Given the description of an element on the screen output the (x, y) to click on. 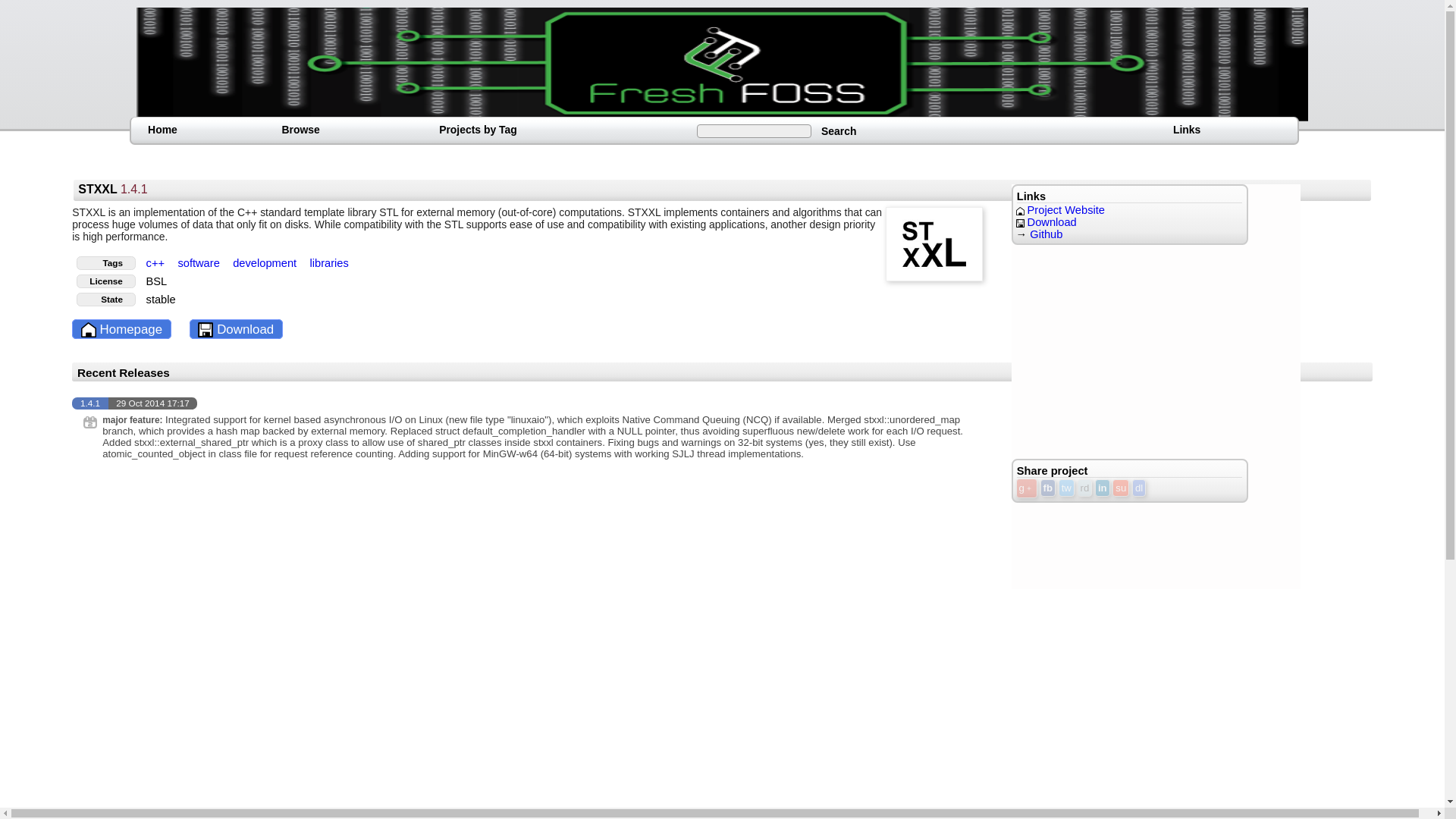
Download (1046, 222)
Boost Software License (156, 280)
stumbleupon (1120, 487)
Search (838, 130)
Project Website (1060, 209)
twitter (1066, 487)
Advertisement (1125, 349)
Projects by Tag (477, 129)
Github (1045, 234)
Home (161, 129)
STXXL 1.4.1 (112, 189)
Browse (301, 129)
BSL (156, 280)
